Given the description of an element on the screen output the (x, y) to click on. 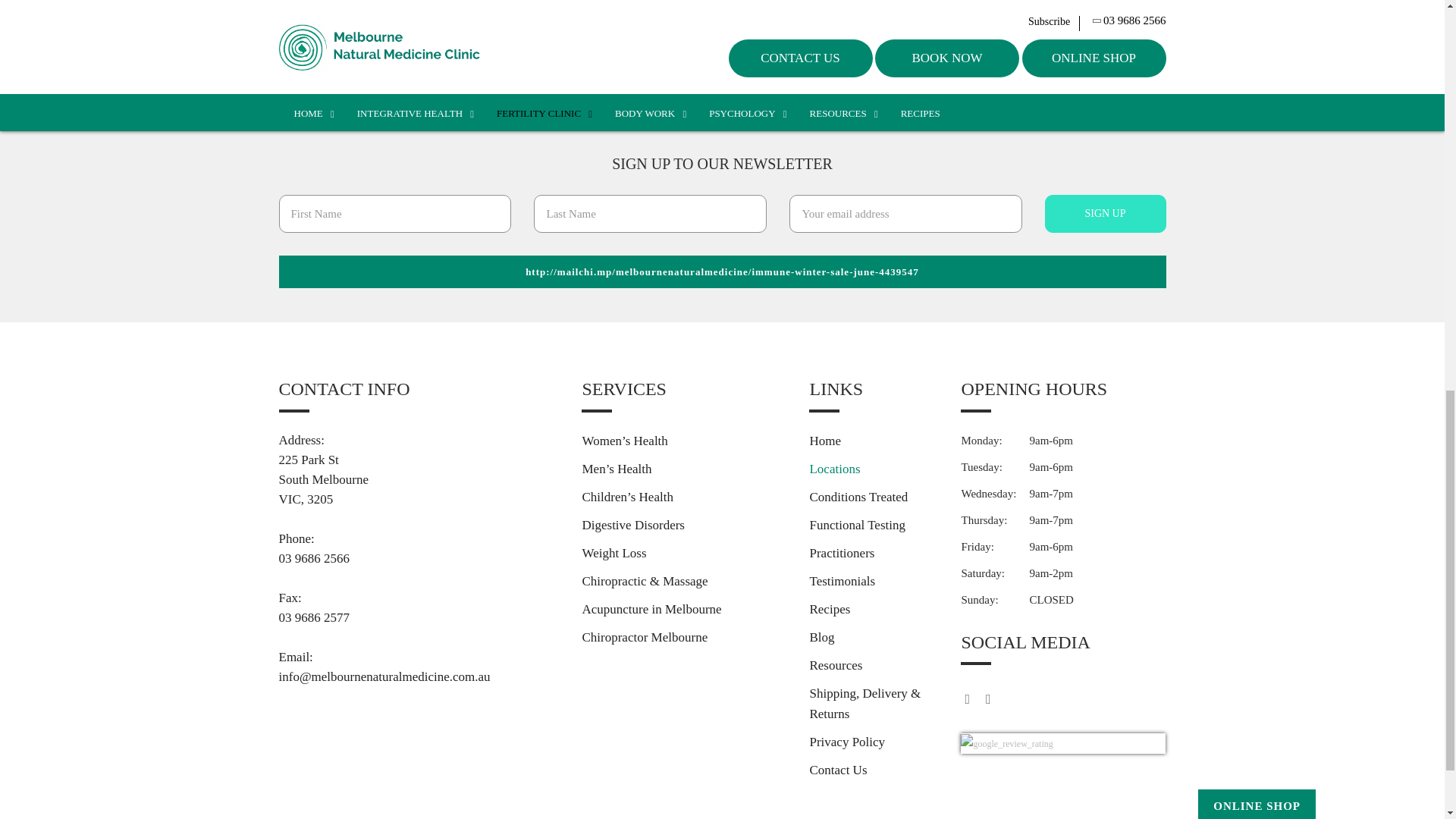
03 9686 2566 (419, 558)
Sign up (1105, 213)
03 9686 2577 (419, 618)
